Given the description of an element on the screen output the (x, y) to click on. 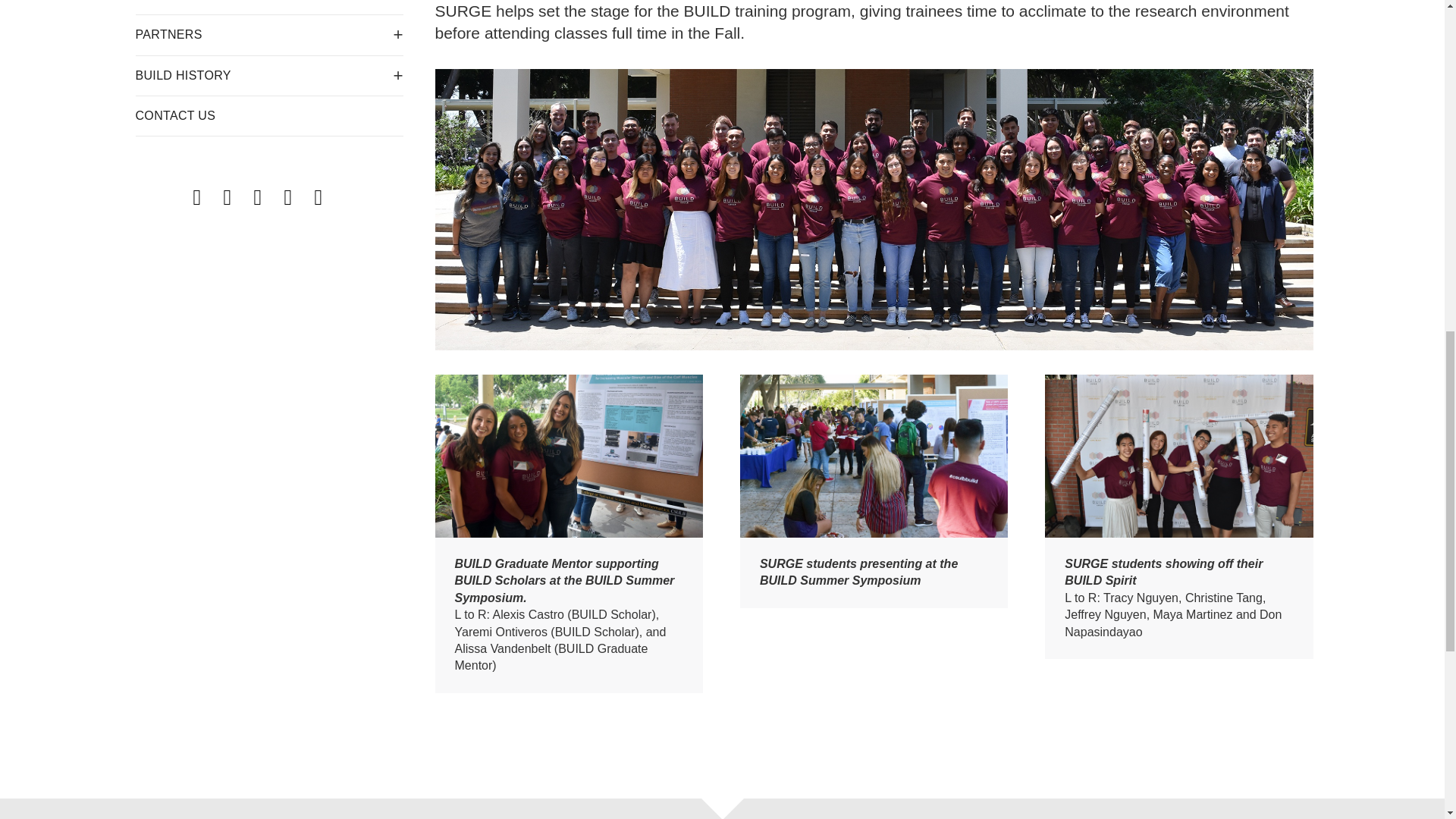
2018-symposium2.jpg (873, 455)
2018-symposium3.jpg (1179, 455)
2018-symposium1.jpg (569, 455)
